Given the description of an element on the screen output the (x, y) to click on. 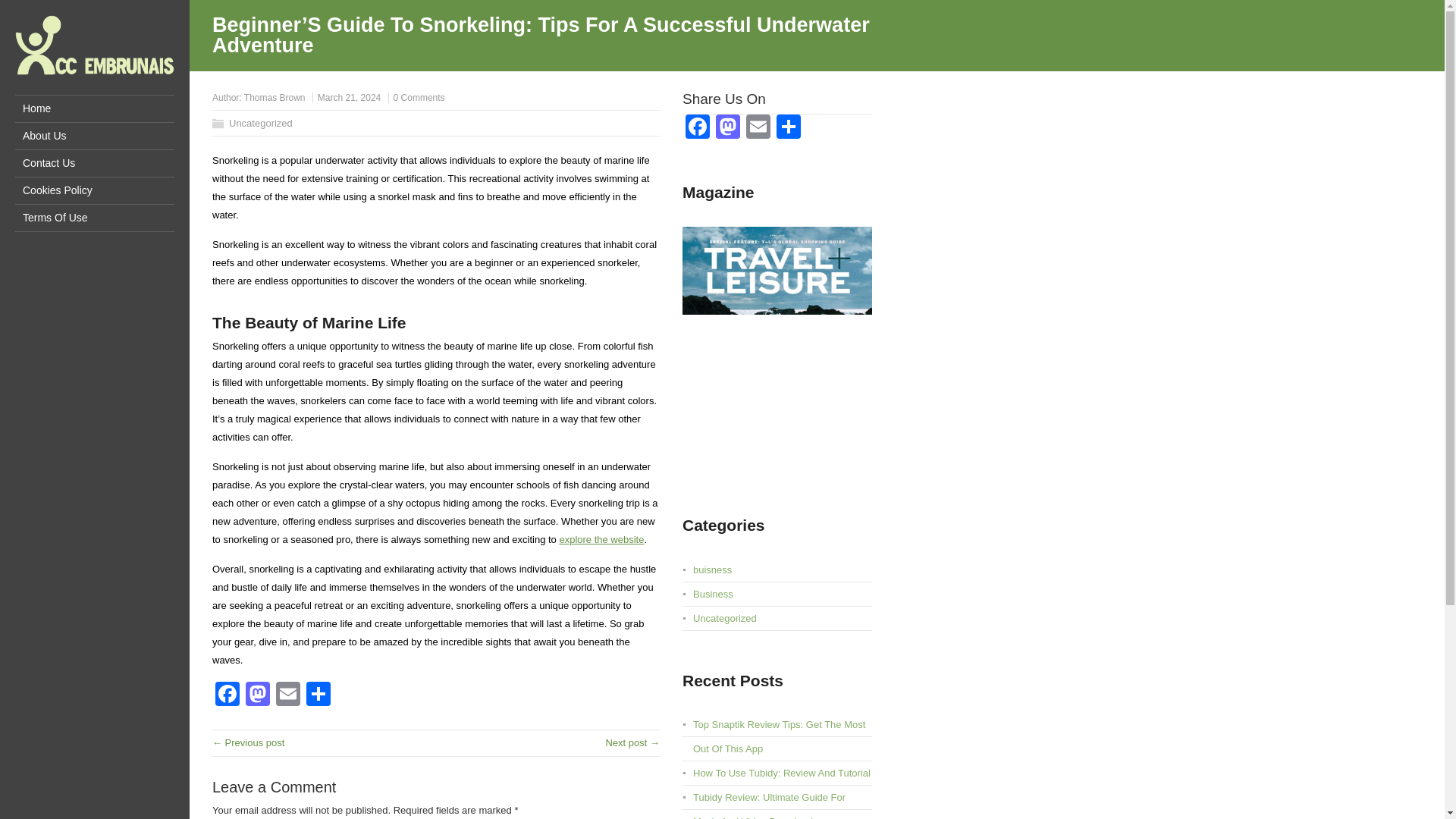
Thomas Brown (274, 97)
Mastodon (258, 695)
Facebook (227, 695)
Facebook (227, 695)
buisness (712, 569)
Contact Us (94, 162)
How To Use Tubidy: Review And Tutorial (781, 772)
Facebook (697, 128)
explore the website (601, 539)
Email (287, 695)
